Given the description of an element on the screen output the (x, y) to click on. 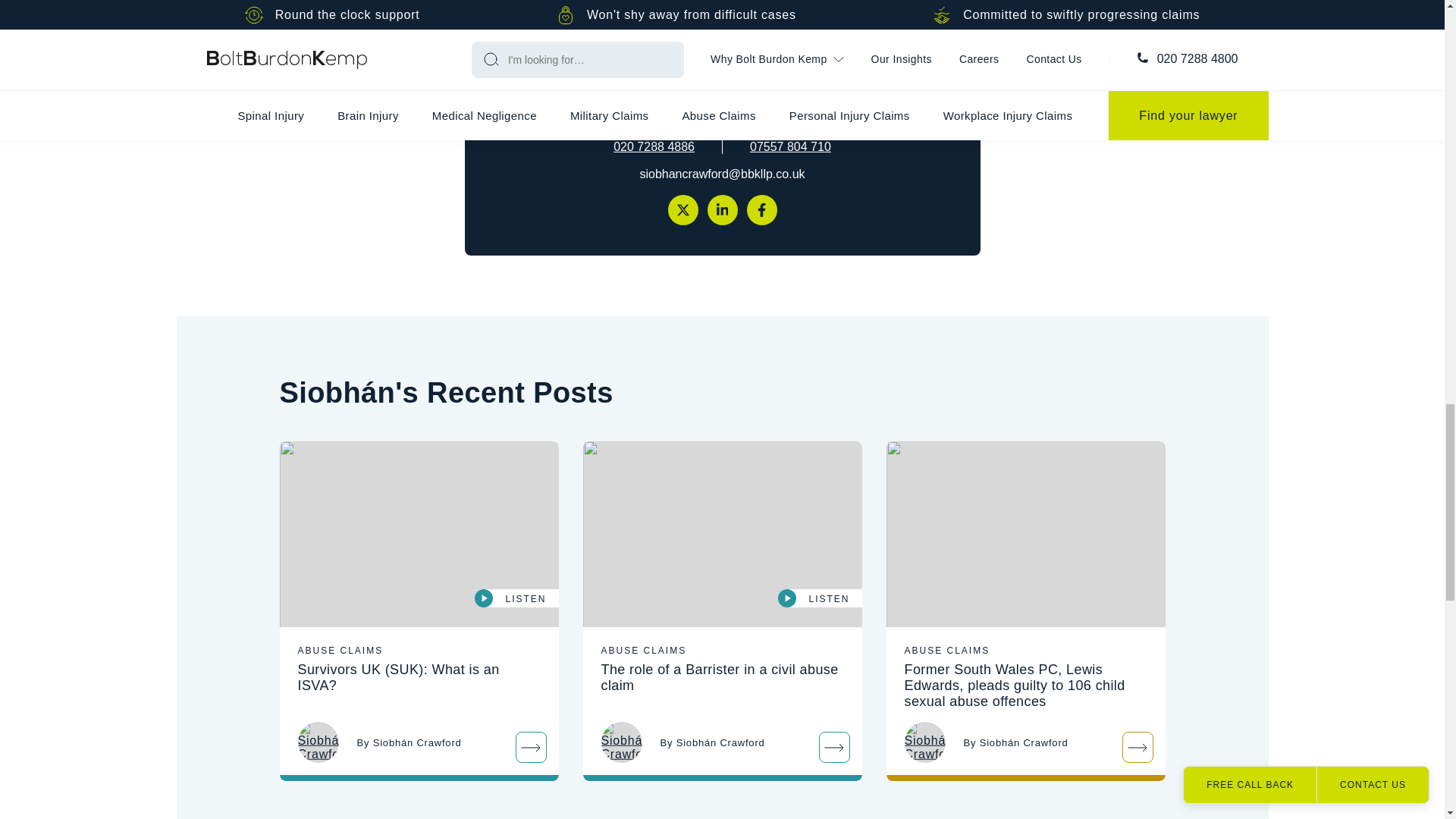
The role of a Barrister in a civil abuse claim (721, 534)
